Given the description of an element on the screen output the (x, y) to click on. 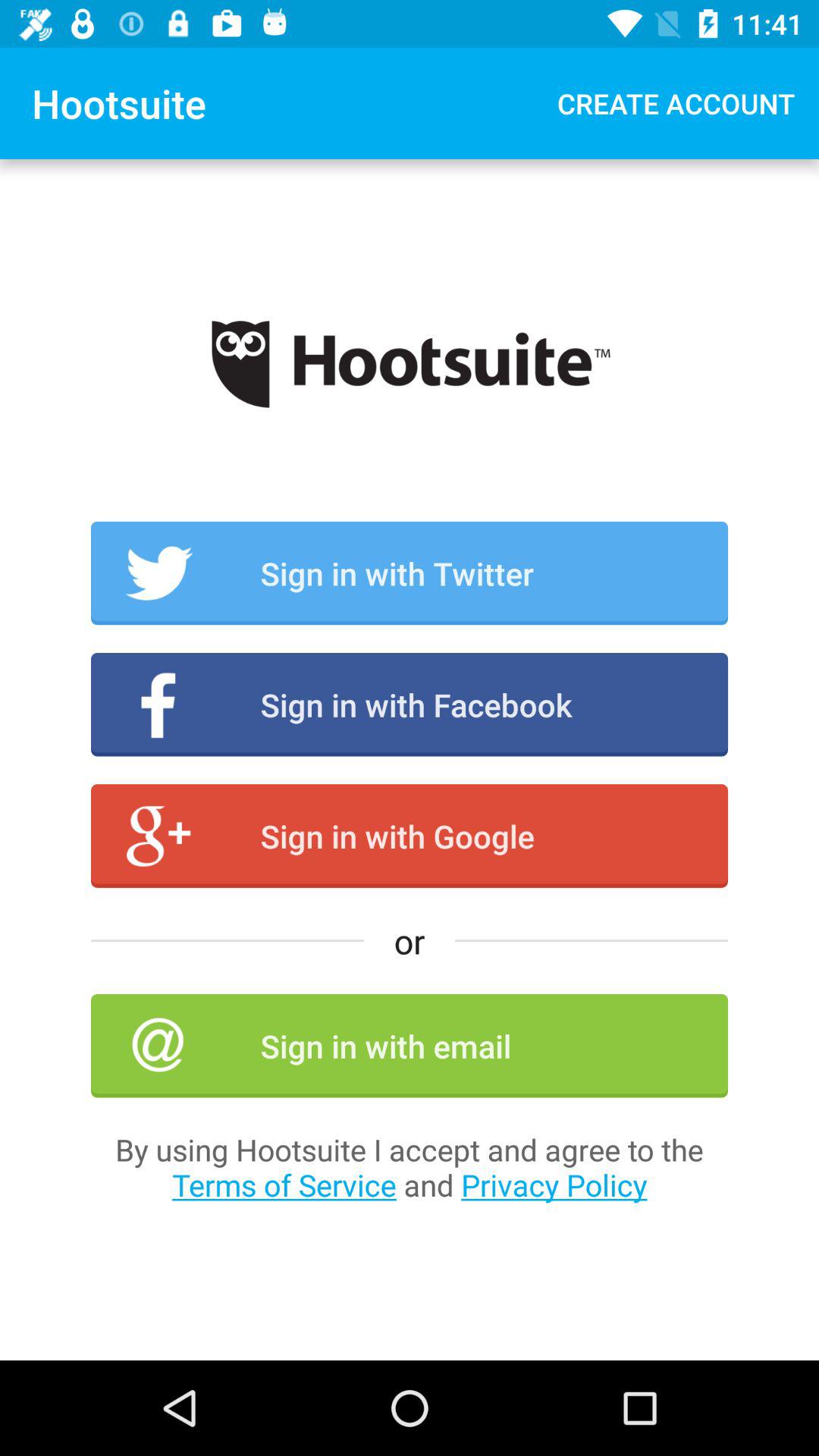
turn on create account item (676, 103)
